Given the description of an element on the screen output the (x, y) to click on. 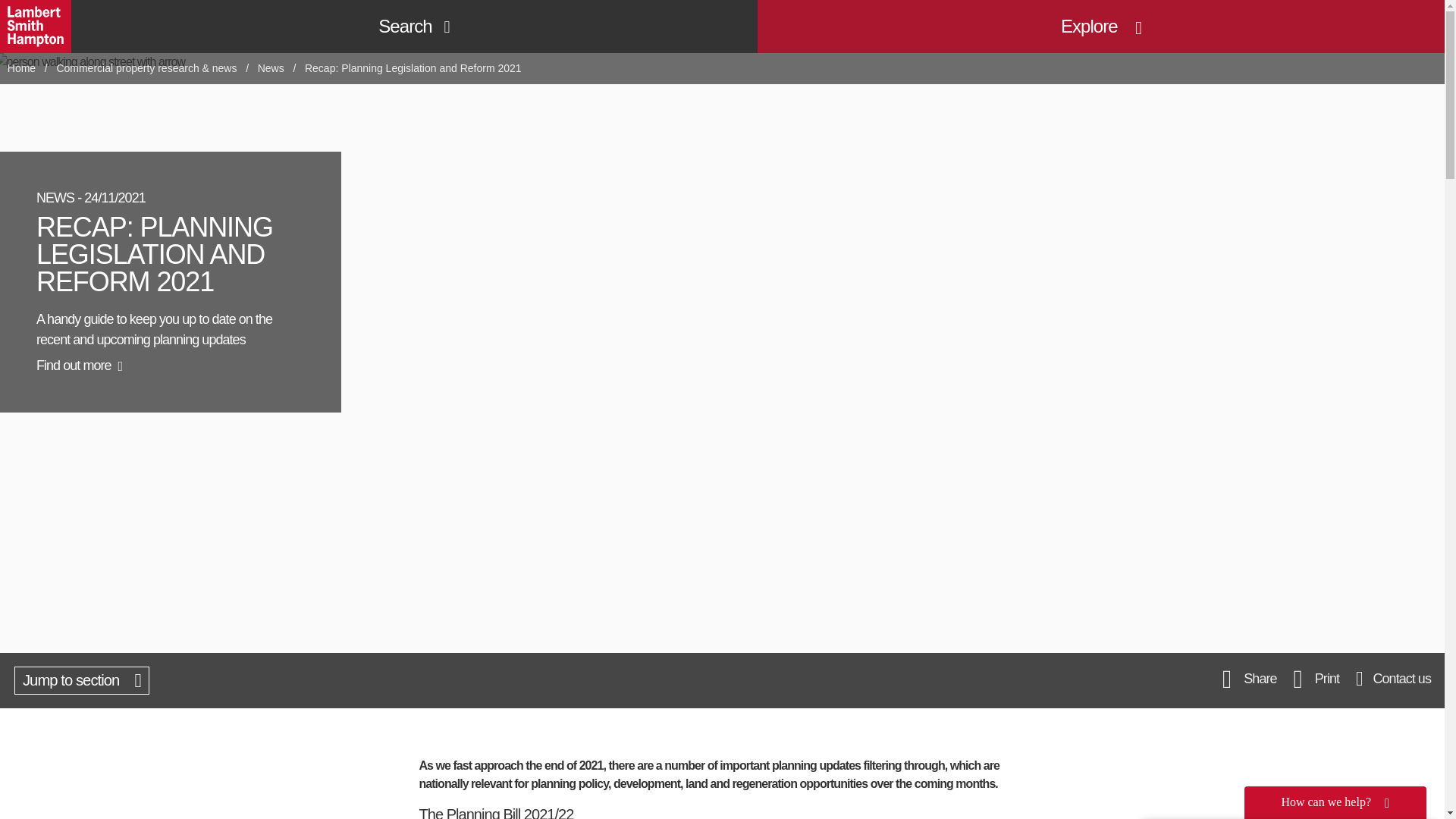
Find out more (79, 365)
Return to home page (35, 26)
